Given the description of an element on the screen output the (x, y) to click on. 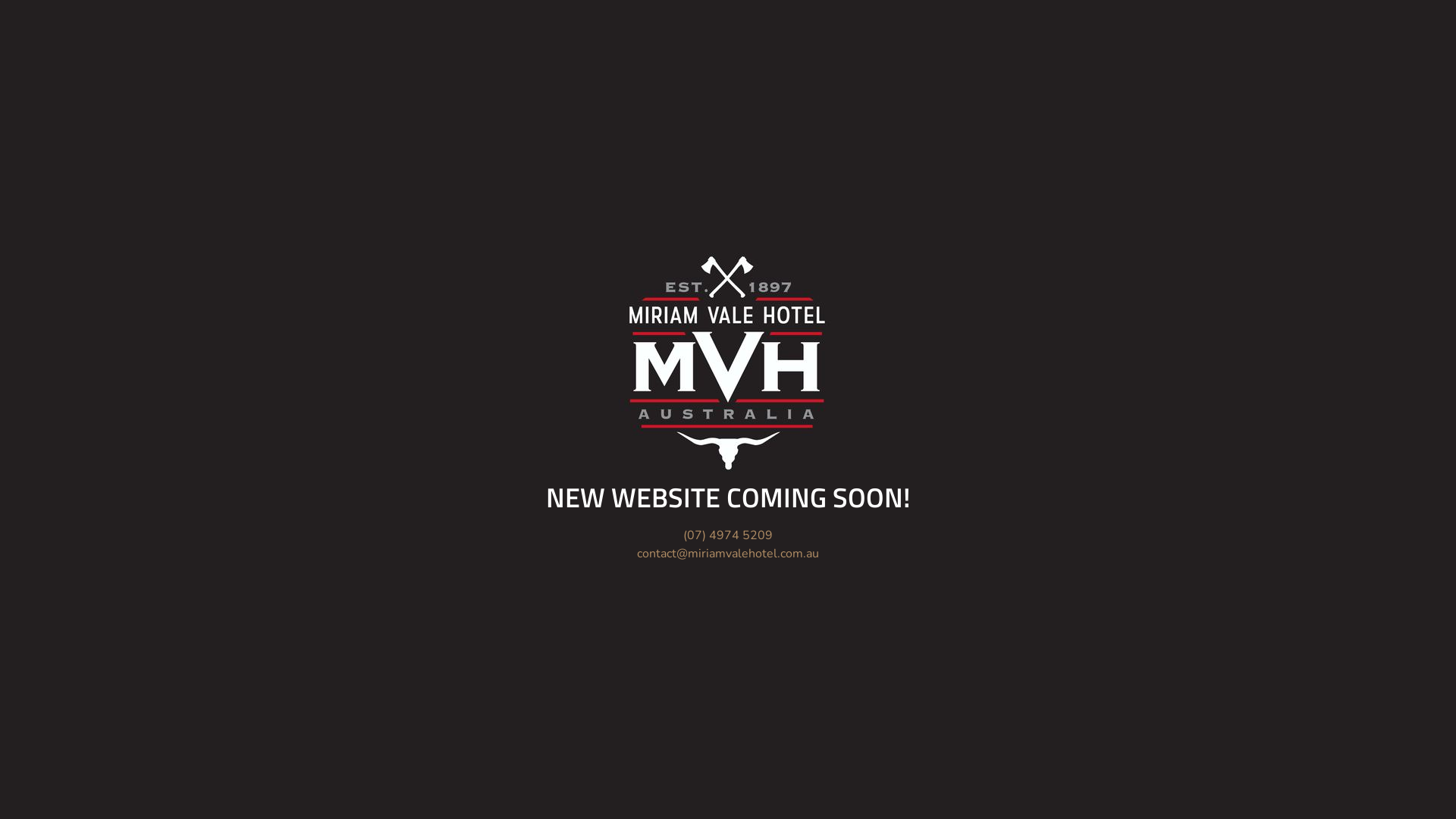
contact@miriamvalehotel.com.au Element type: text (728, 553)
(07) 4974 5209 Element type: text (727, 535)
